Given the description of an element on the screen output the (x, y) to click on. 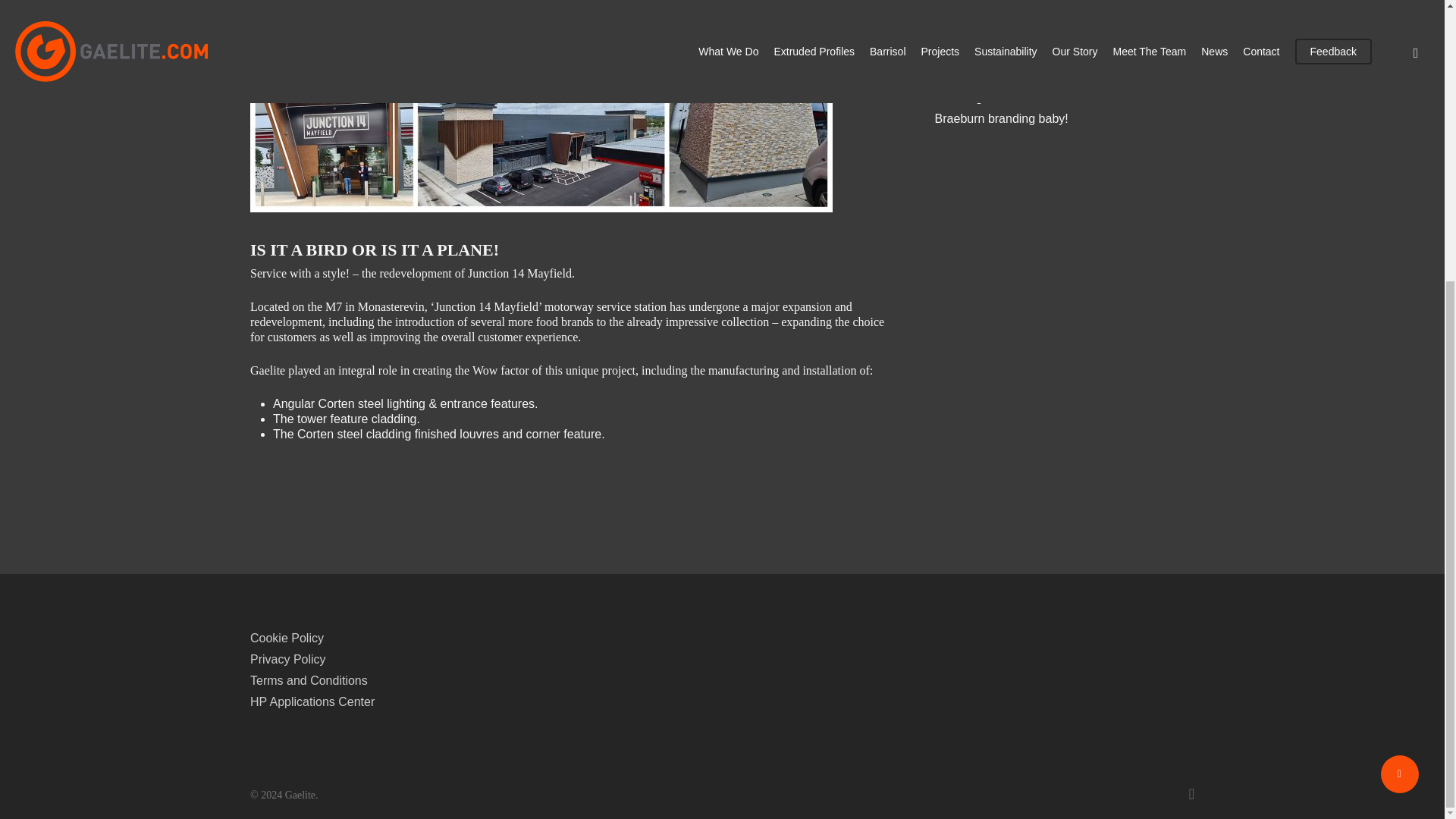
Heineken Brewery Cork (1063, 55)
Terms and Conditions (415, 680)
Cookie Policy (415, 638)
Extrusions in Action! (1063, 76)
Braeburn branding baby! (1063, 118)
HP Applications Center (415, 702)
How to grow SPAR tree! (1063, 97)
Privacy Policy (415, 659)
Our super Barrisol install in Kuwait city! (1063, 33)
